Given the description of an element on the screen output the (x, y) to click on. 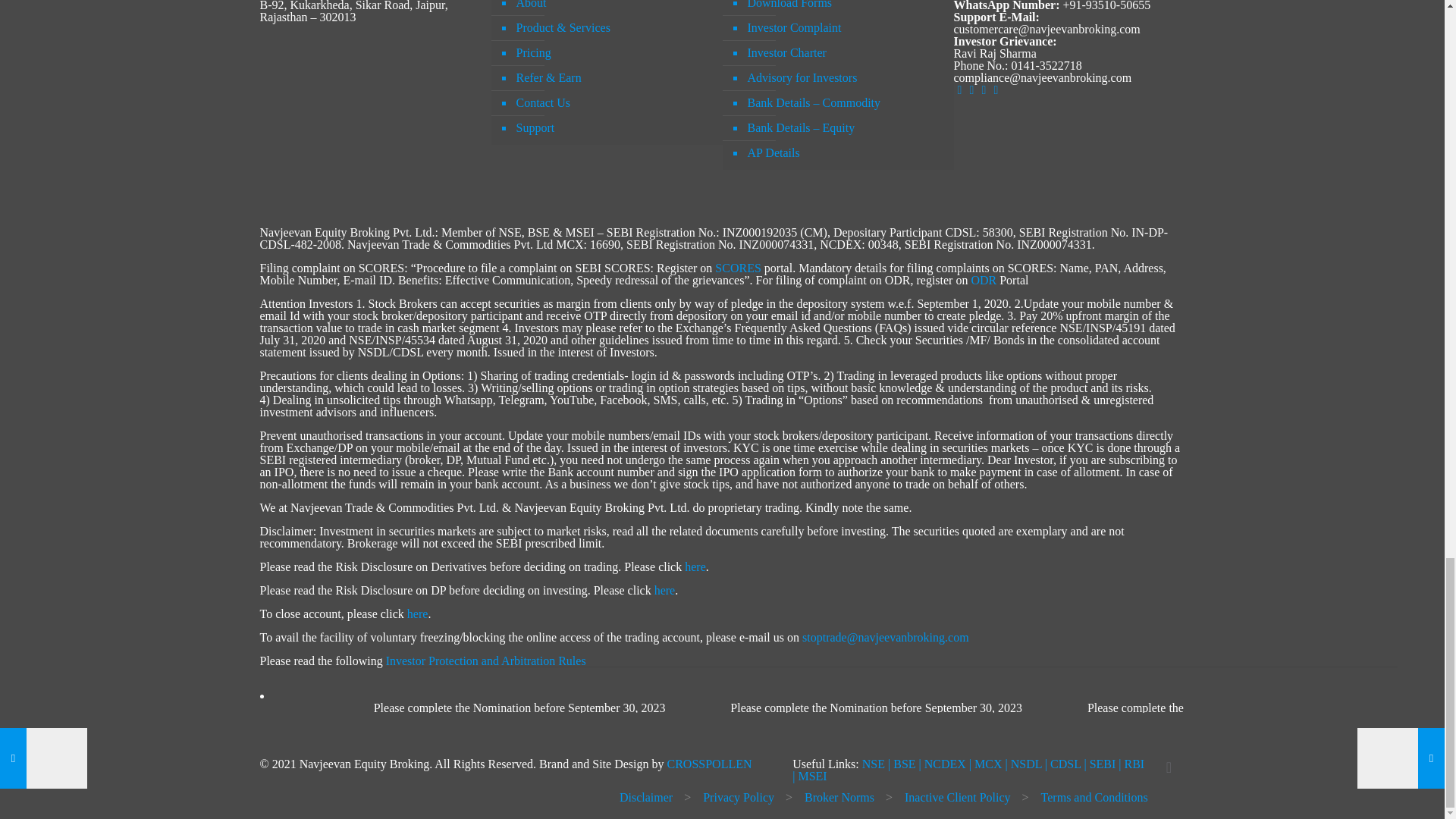
Linkedin (972, 89)
Facebook (959, 89)
Instagram (984, 89)
